Given the description of an element on the screen output the (x, y) to click on. 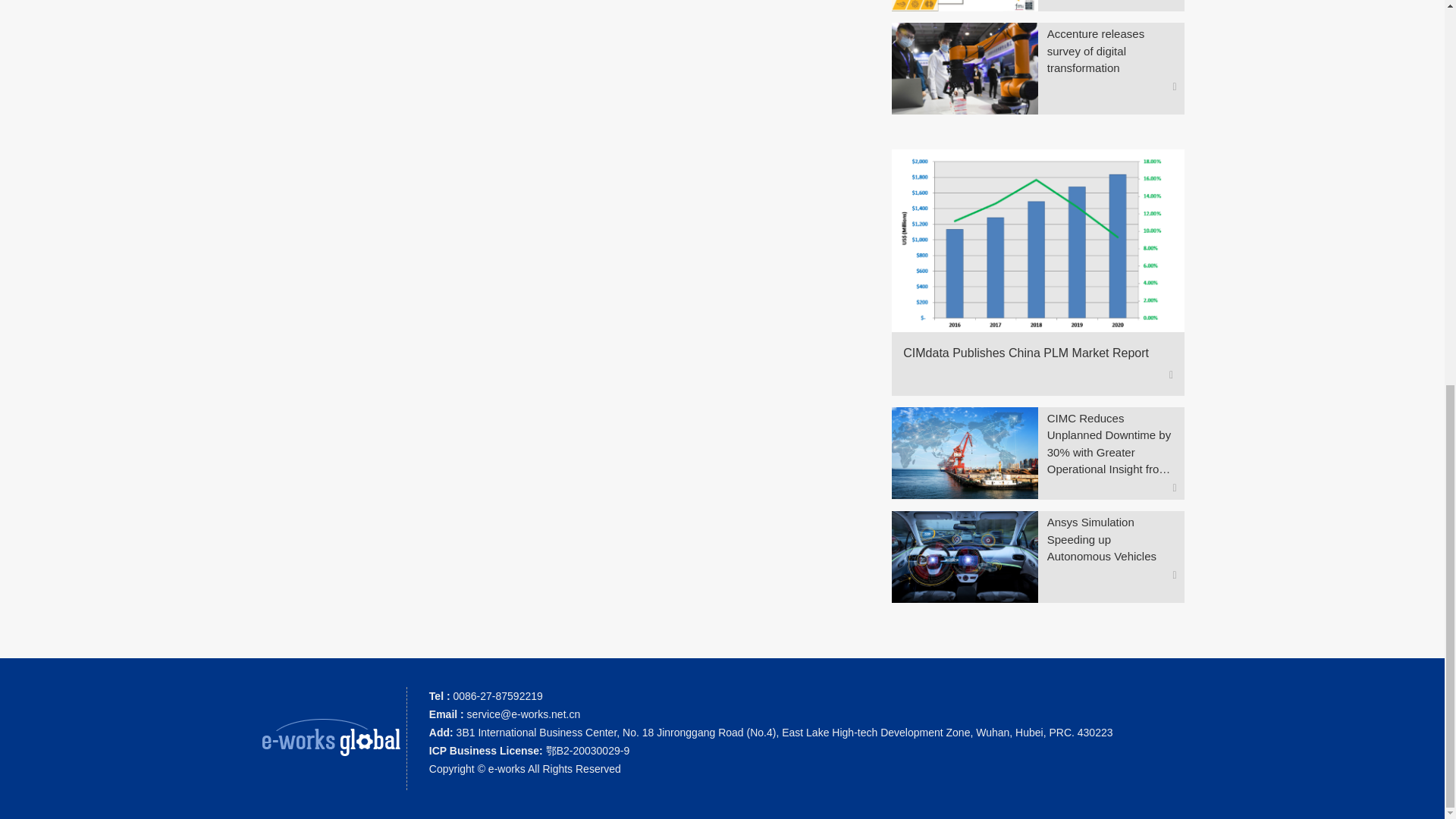
Accenture releases survey of digital transformation (1111, 50)
Ansys Simulation Speeding up Autonomous Vehicles (1111, 539)
CIMdata Publishes China PLM Market Report (1030, 352)
